Given the description of an element on the screen output the (x, y) to click on. 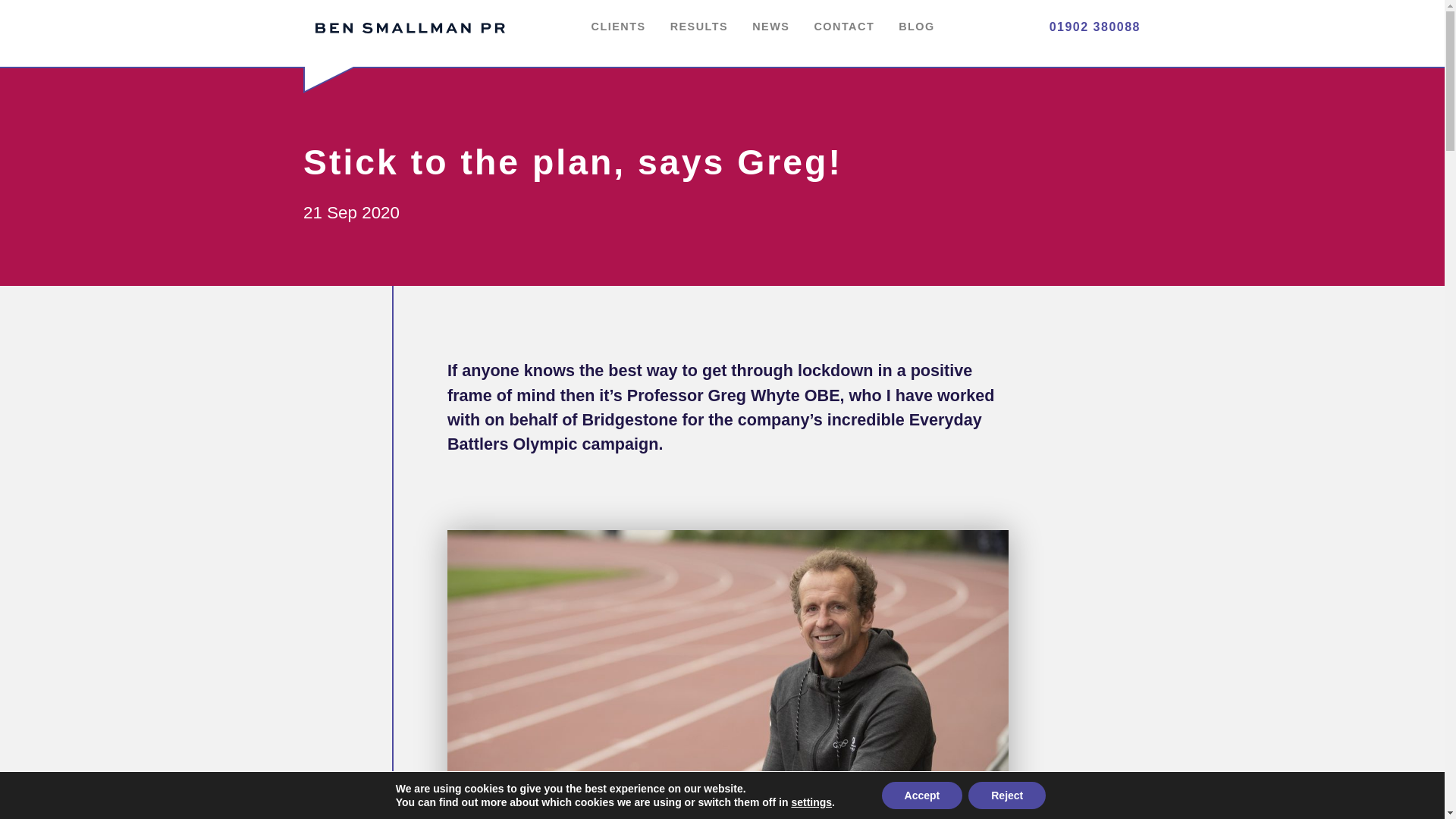
01902 380088 (1077, 27)
21 Sep 2020 (350, 212)
Accept (922, 795)
Results (699, 27)
Blog (916, 27)
BLOG (916, 27)
CLIENTS (618, 27)
Clients (618, 27)
Contact (844, 27)
RESULTS (699, 27)
settings (810, 802)
Reject (1006, 795)
News (770, 27)
NEWS (770, 27)
CONTACT (844, 27)
